Given the description of an element on the screen output the (x, y) to click on. 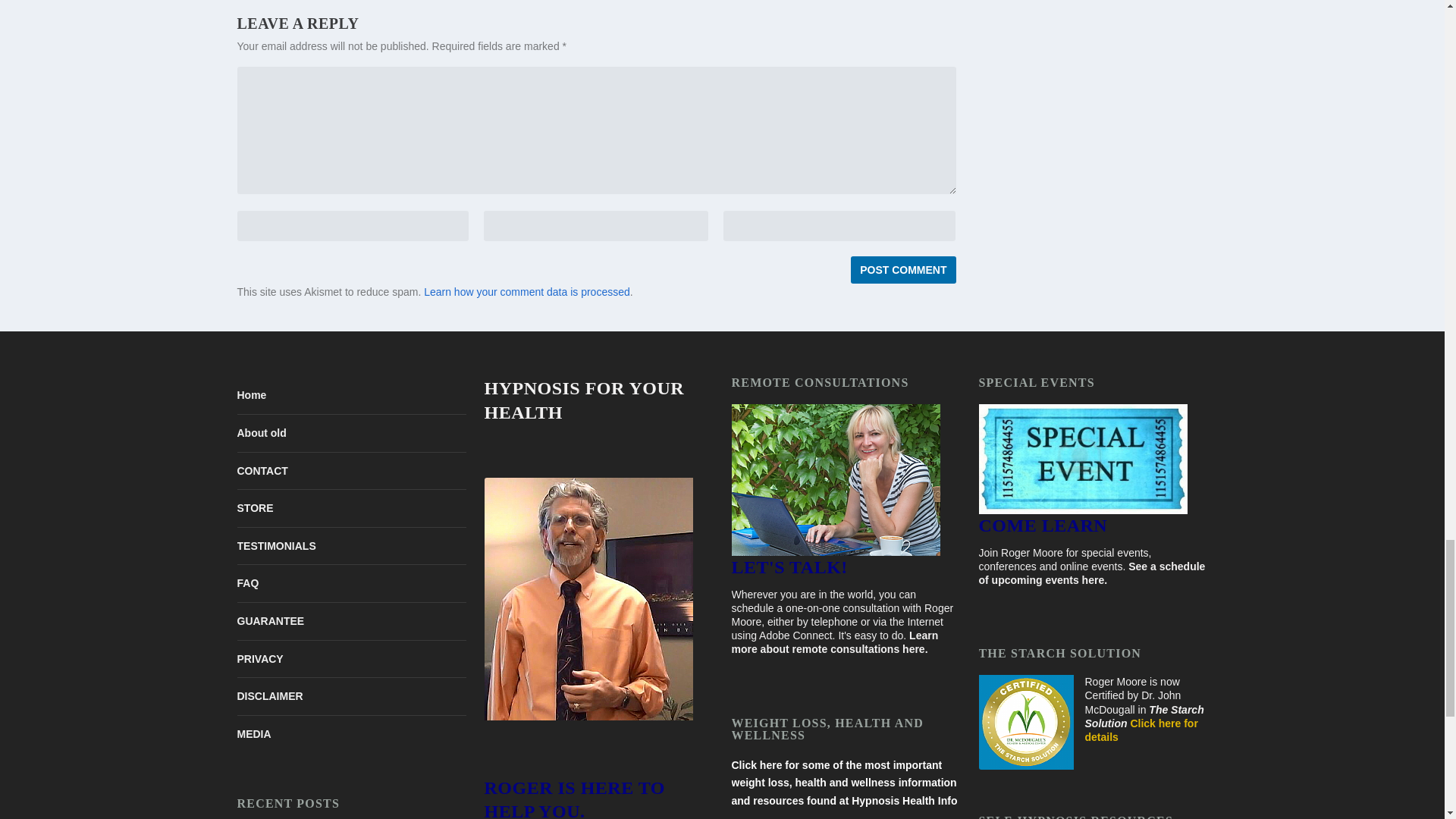
Post Comment (902, 269)
